Given the description of an element on the screen output the (x, y) to click on. 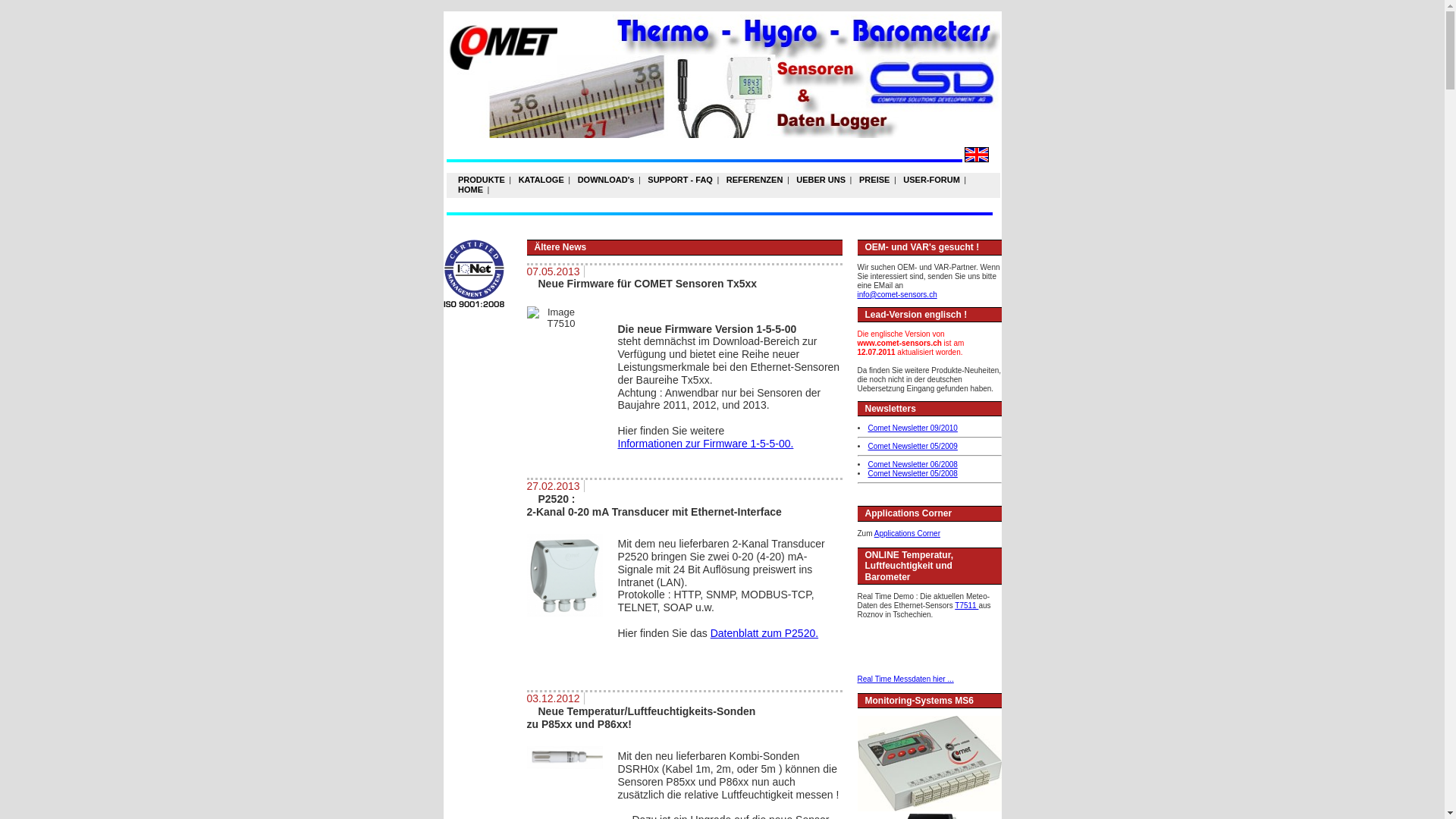
T7511 Element type: text (966, 605)
PRODUKTE Element type: text (480, 179)
T/rH-Sonde Element type: hover (564, 757)
Datenblatt zum P2520. Element type: text (764, 633)
Real Time Messdaten hier ... Element type: text (904, 678)
P2520 Element type: hover (564, 574)
REFERENZEN Element type: text (754, 179)
DOWNLOAD's Element type: text (605, 179)
Comet Newsletter 05/2009 Element type: text (912, 446)
PREISE Element type: text (874, 179)
Comet Newsletter 09/2010 Element type: text (912, 427)
Image T7510 Element type: hover (554, 317)
monitoring system MS6 Element type: hover (928, 762)
USER-FORUM Element type: text (931, 179)
UEBER UNS Element type: text (821, 179)
Comet Newsletter 06/2008 Element type: text (912, 464)
Comet Newsletter 05/2008 Element type: text (912, 473)
info@comet-sensors.ch Element type: text (896, 294)
SUPPORT - FAQ Element type: text (680, 179)
Applications Corner Element type: text (907, 533)
KATALOGE Element type: text (540, 179)
Informationen zur Firmware 1-5-5-00. Element type: text (705, 443)
HOME Element type: text (469, 189)
